Given the description of an element on the screen output the (x, y) to click on. 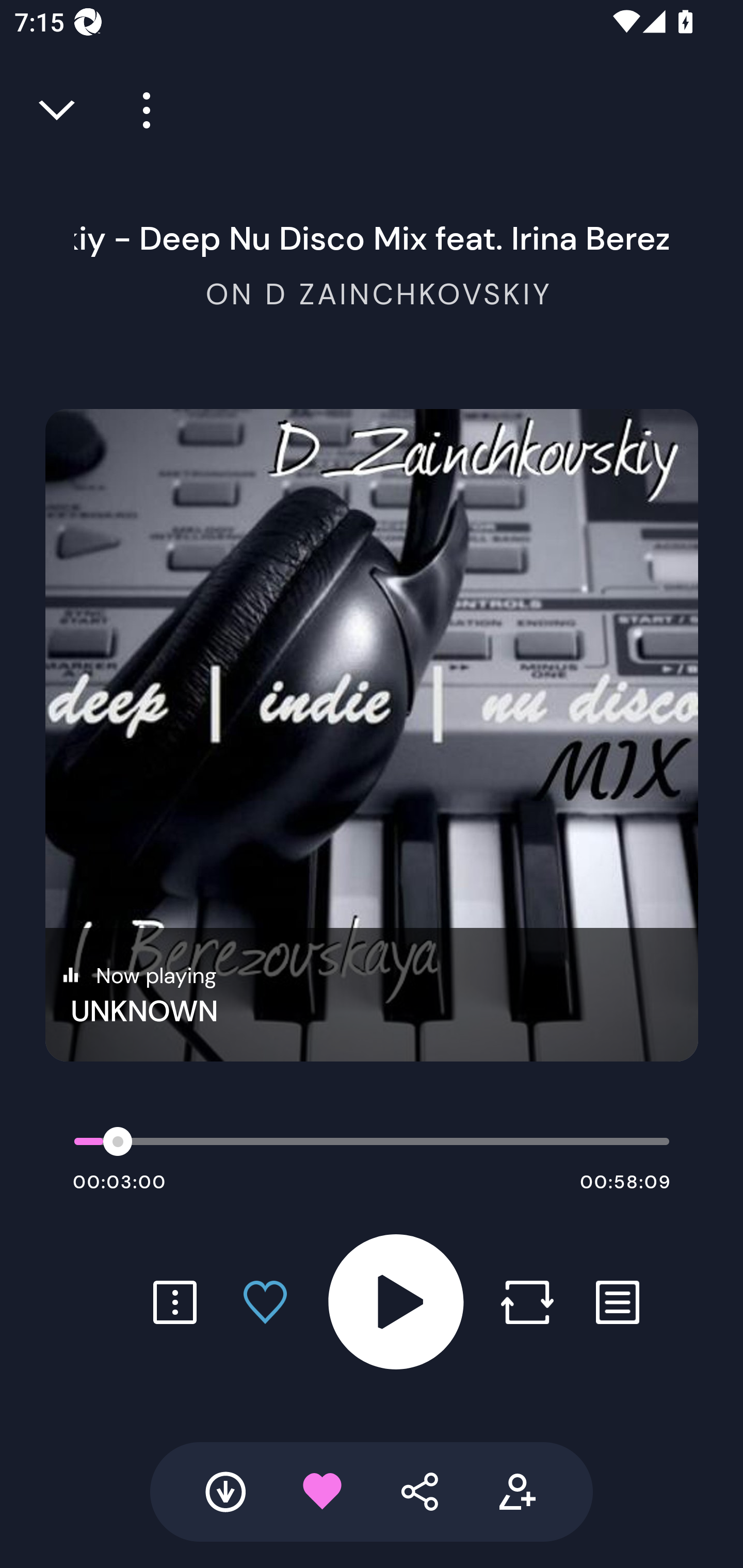
Close full player (58, 110)
Player more options button (139, 110)
Repost button (527, 1301)
